Given the description of an element on the screen output the (x, y) to click on. 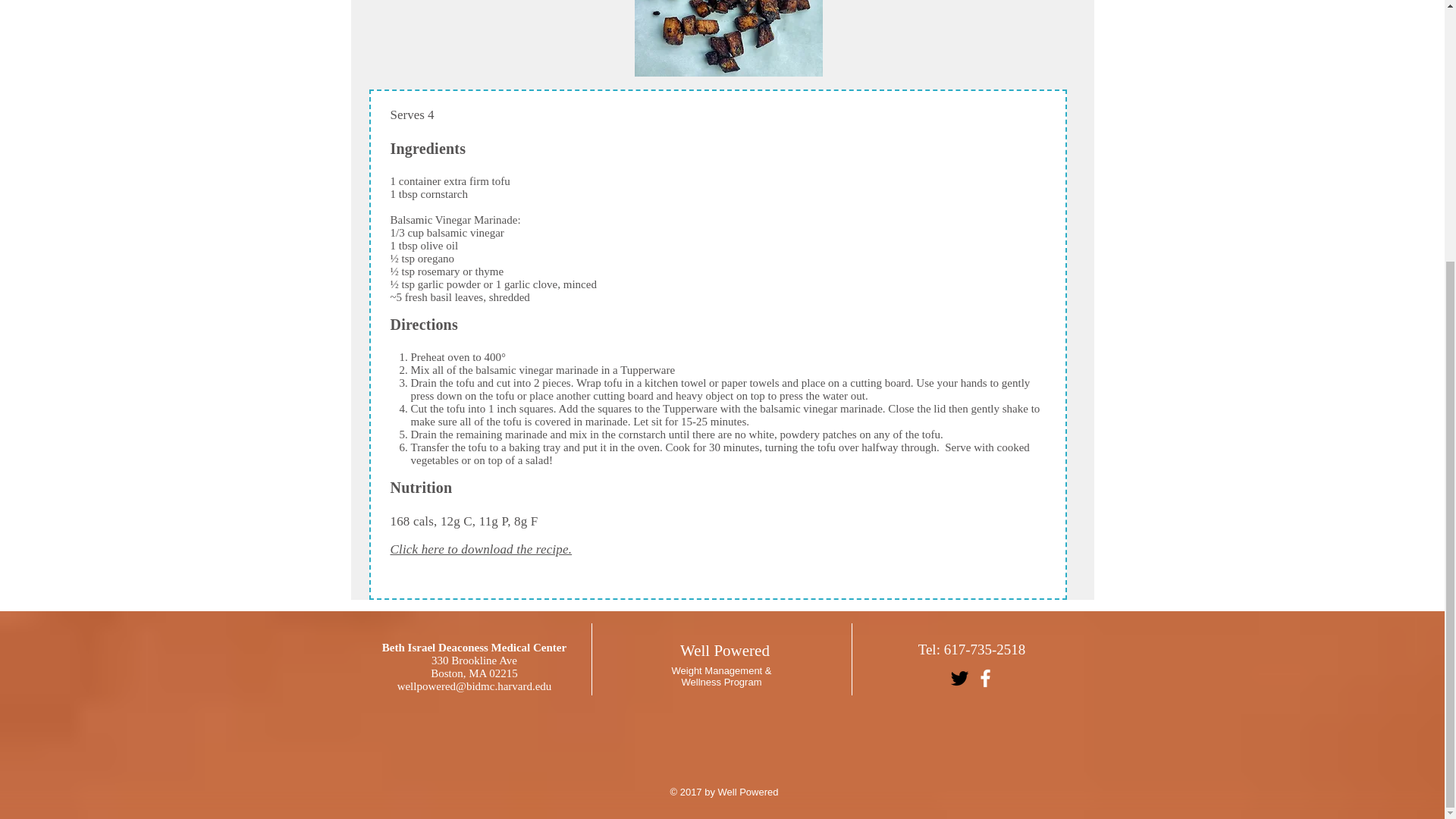
Click here to download the recipe. (481, 549)
Well Powered (724, 650)
